Given the description of an element on the screen output the (x, y) to click on. 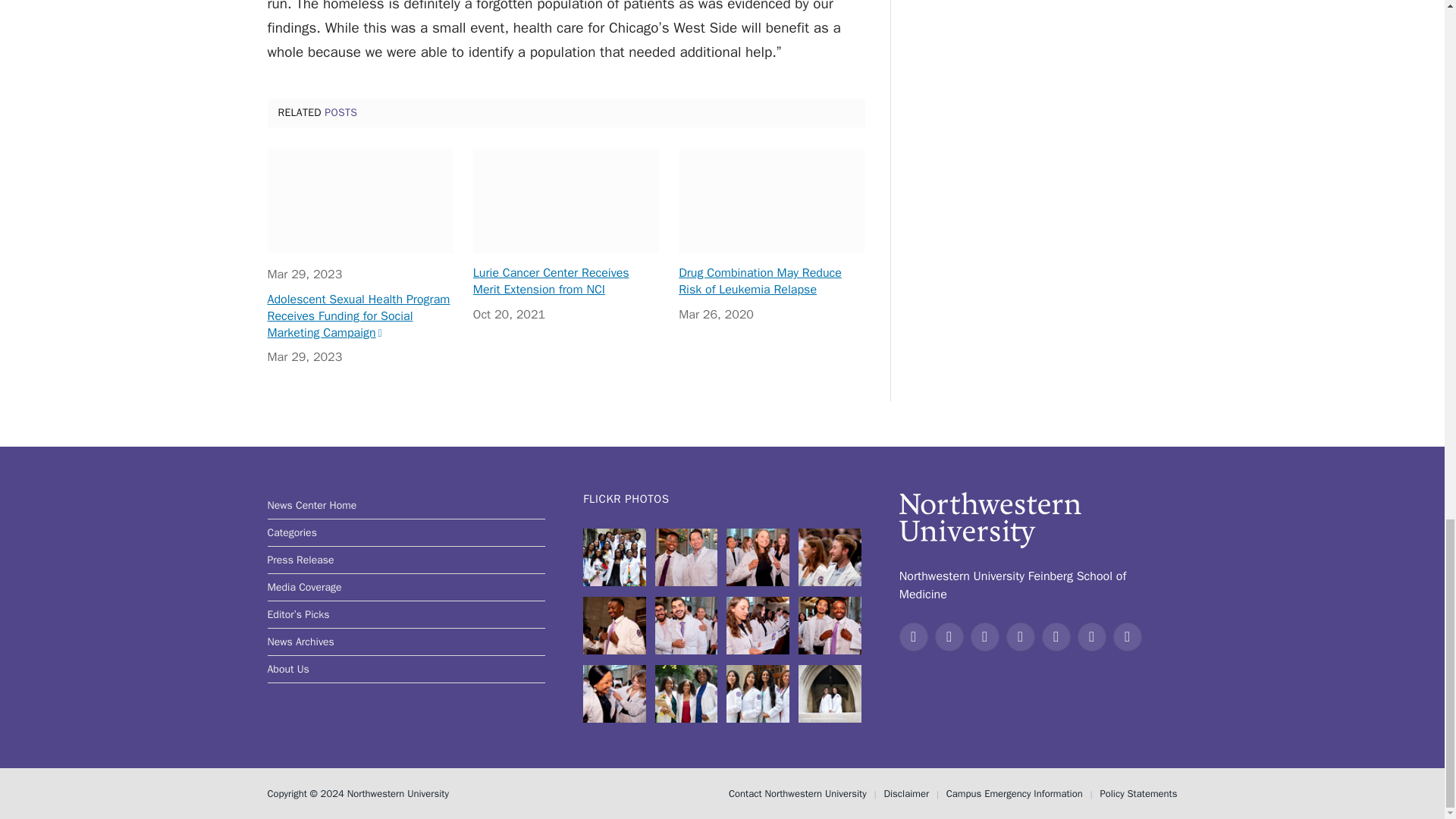
Drug Combination May Reduce Risk of Leukemia Relapse (771, 200)
Lurie Cancer Center Receives Merit Extension from NCI (566, 200)
